Given the description of an element on the screen output the (x, y) to click on. 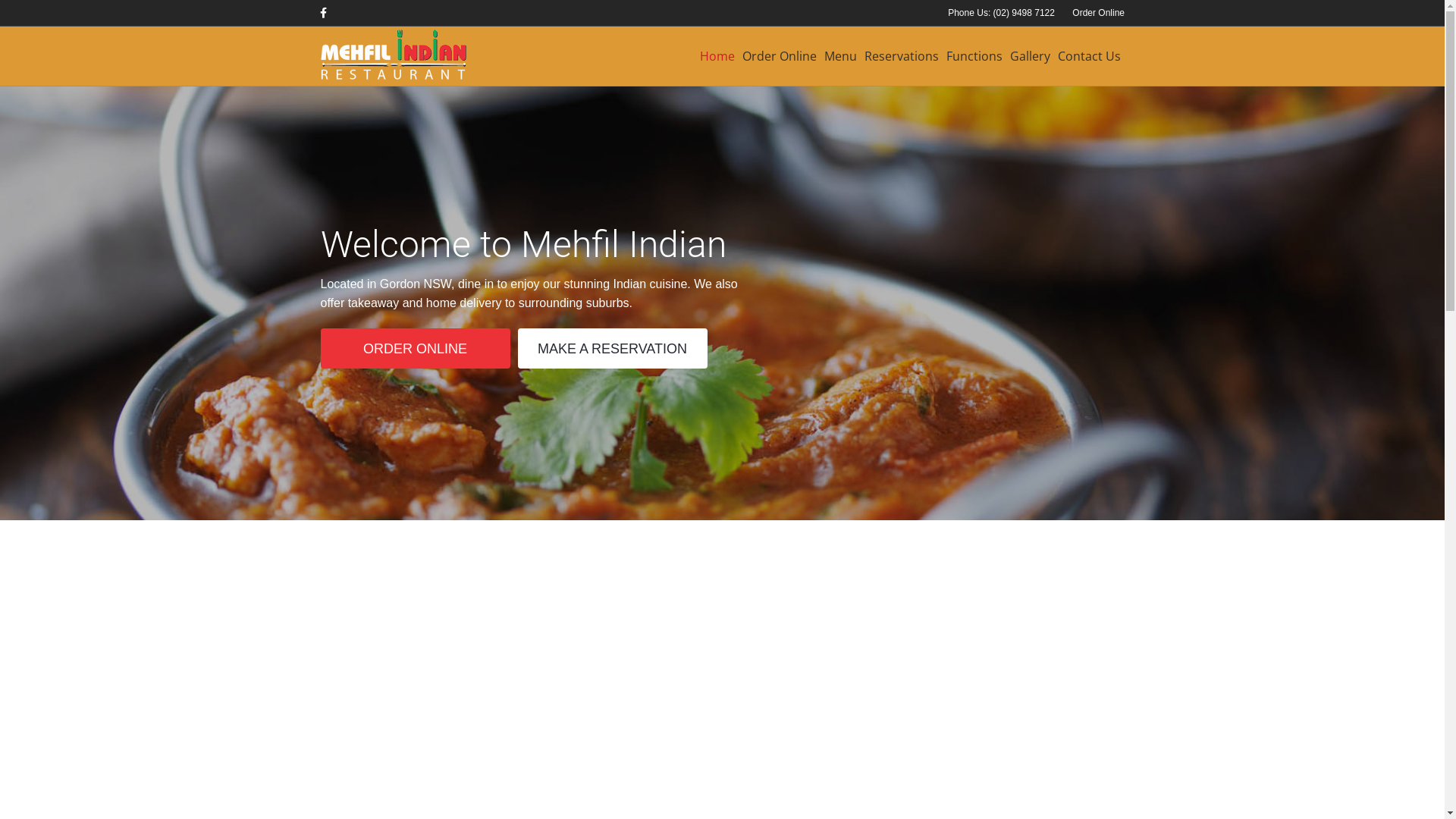
MAKE A RESERVATION Element type: text (611, 348)
Order Online Element type: text (779, 55)
ORDER ONLINE Element type: text (414, 348)
Phone Us: (02) 9498 7122 Element type: text (1001, 12)
Home Element type: text (717, 55)
Functions Element type: text (974, 55)
Order Online Element type: text (1098, 12)
Gallery Element type: text (1030, 55)
Reservations Element type: text (901, 55)
Facebook Element type: text (329, 11)
Menu Element type: text (840, 55)
Contact Us Element type: text (1089, 55)
